Given the description of an element on the screen output the (x, y) to click on. 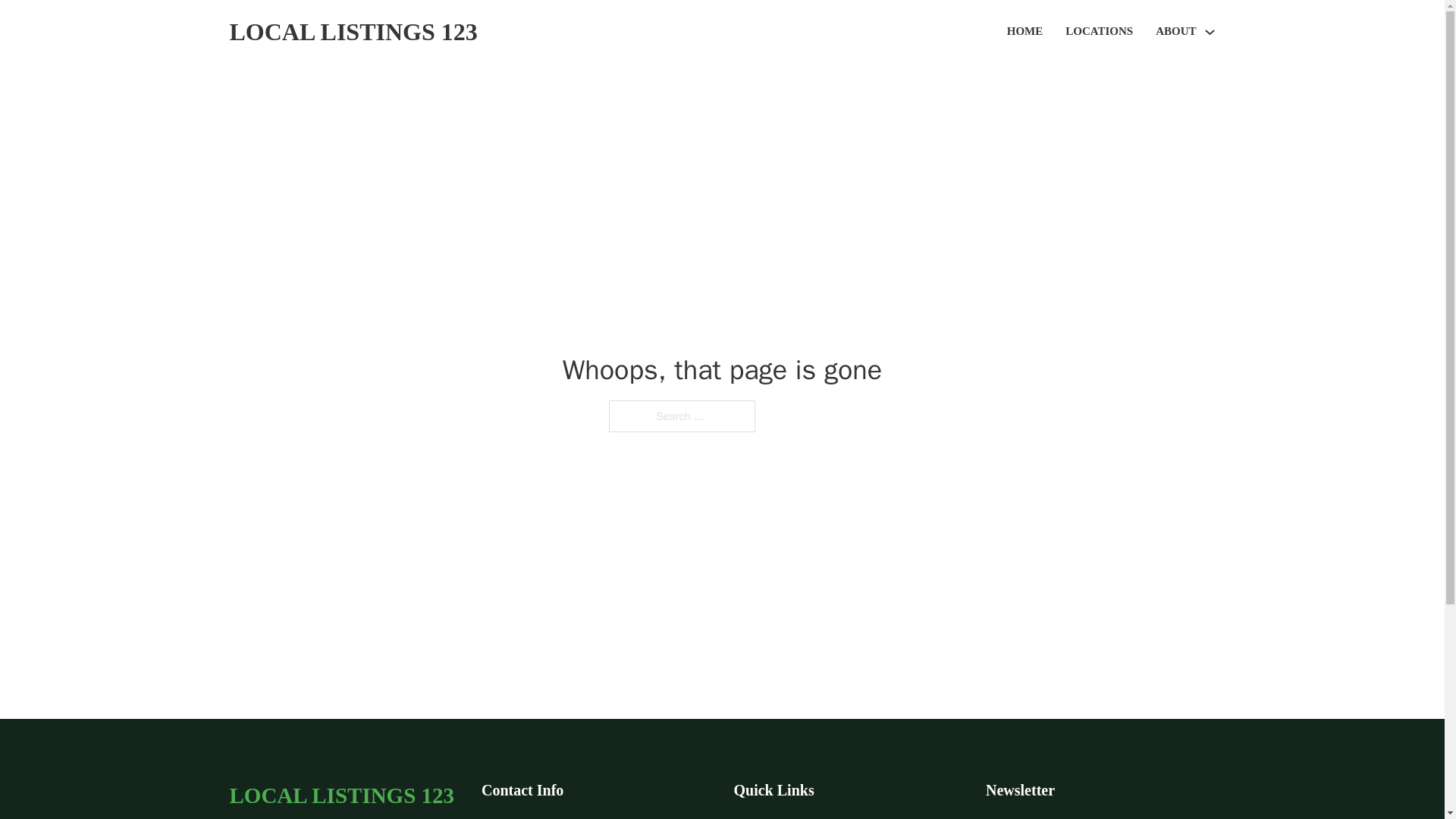
LOCATIONS (1098, 31)
LOCAL LISTINGS 123 (352, 31)
HOME (1025, 31)
LOCAL LISTINGS 123 (341, 795)
